Given the description of an element on the screen output the (x, y) to click on. 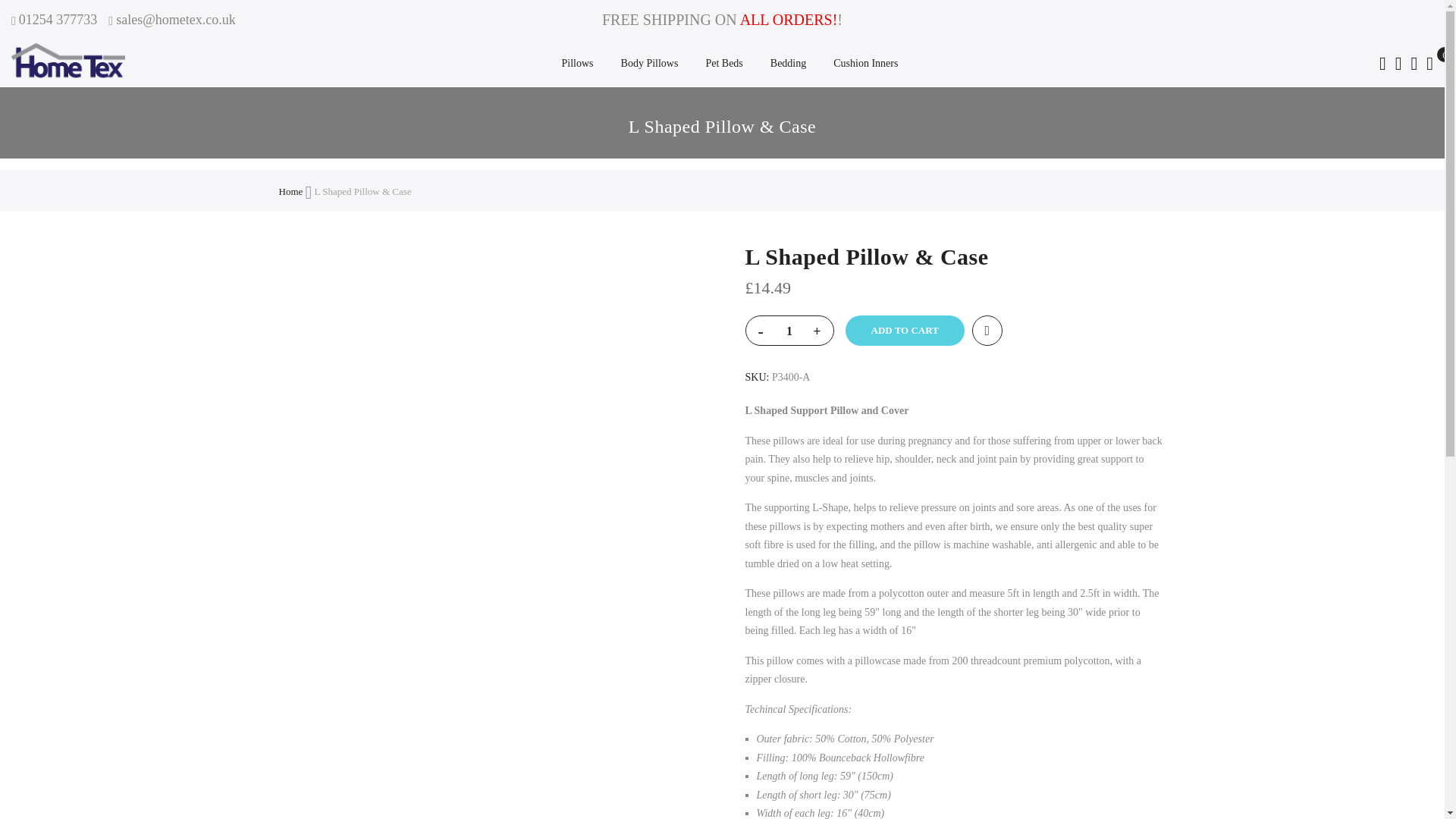
1 (788, 331)
Body Pillows (650, 63)
Pillows (577, 63)
Qty (788, 331)
Add to Cart (903, 330)
Cushion Inners (865, 63)
Go to Home Page (290, 191)
Pet Beds (723, 63)
 01254 377733 (54, 19)
Bedding (788, 63)
